Given the description of an element on the screen output the (x, y) to click on. 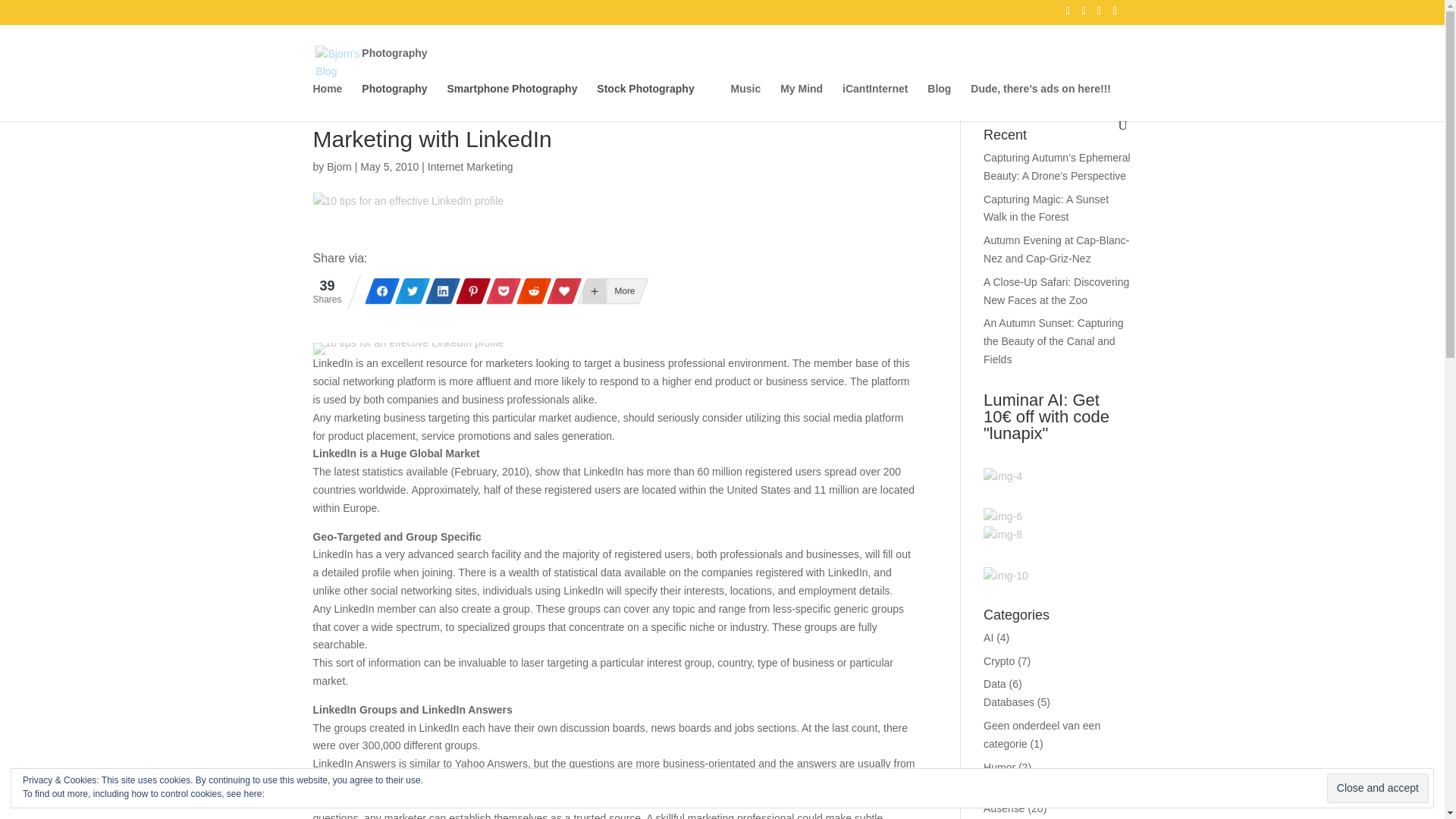
Stock Photography (645, 88)
Autumn Evening at Cap-Blanc-Nez and Cap-Griz-Nez (1056, 249)
My Mind (801, 100)
Close and accept (1377, 788)
Bjorn (339, 166)
Smartphone Photography (512, 88)
Photography (535, 65)
iCantInternet (875, 100)
Capturing Magic: A Sunset Walk in the Forest (1046, 208)
More (607, 290)
